Given the description of an element on the screen output the (x, y) to click on. 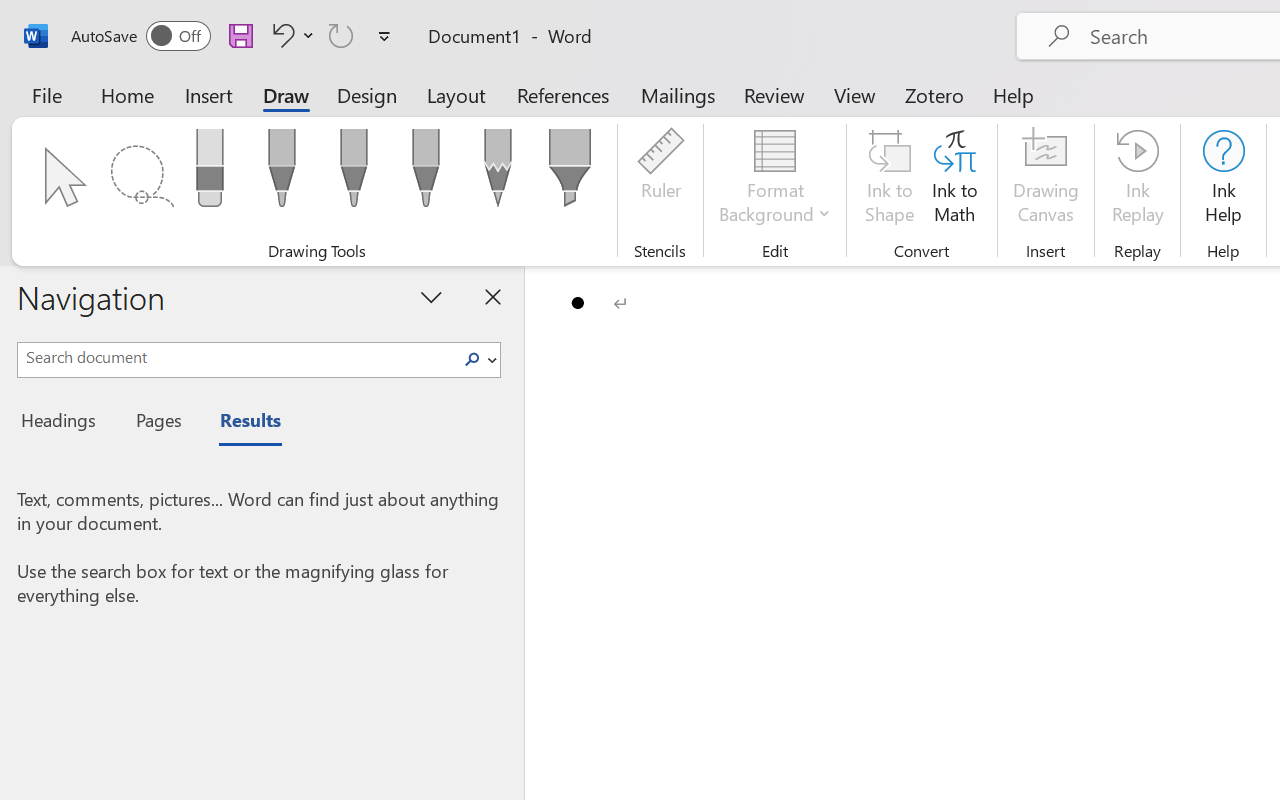
Pen: Galaxy, 1 mm (426, 173)
Pen: Red, 0.5 mm (353, 173)
Ruler (660, 179)
Search document (236, 357)
Pencil: Gray, 1 mm (497, 173)
Ink Replay (1137, 179)
Pen: Black, 0.5 mm (281, 173)
